Given the description of an element on the screen output the (x, y) to click on. 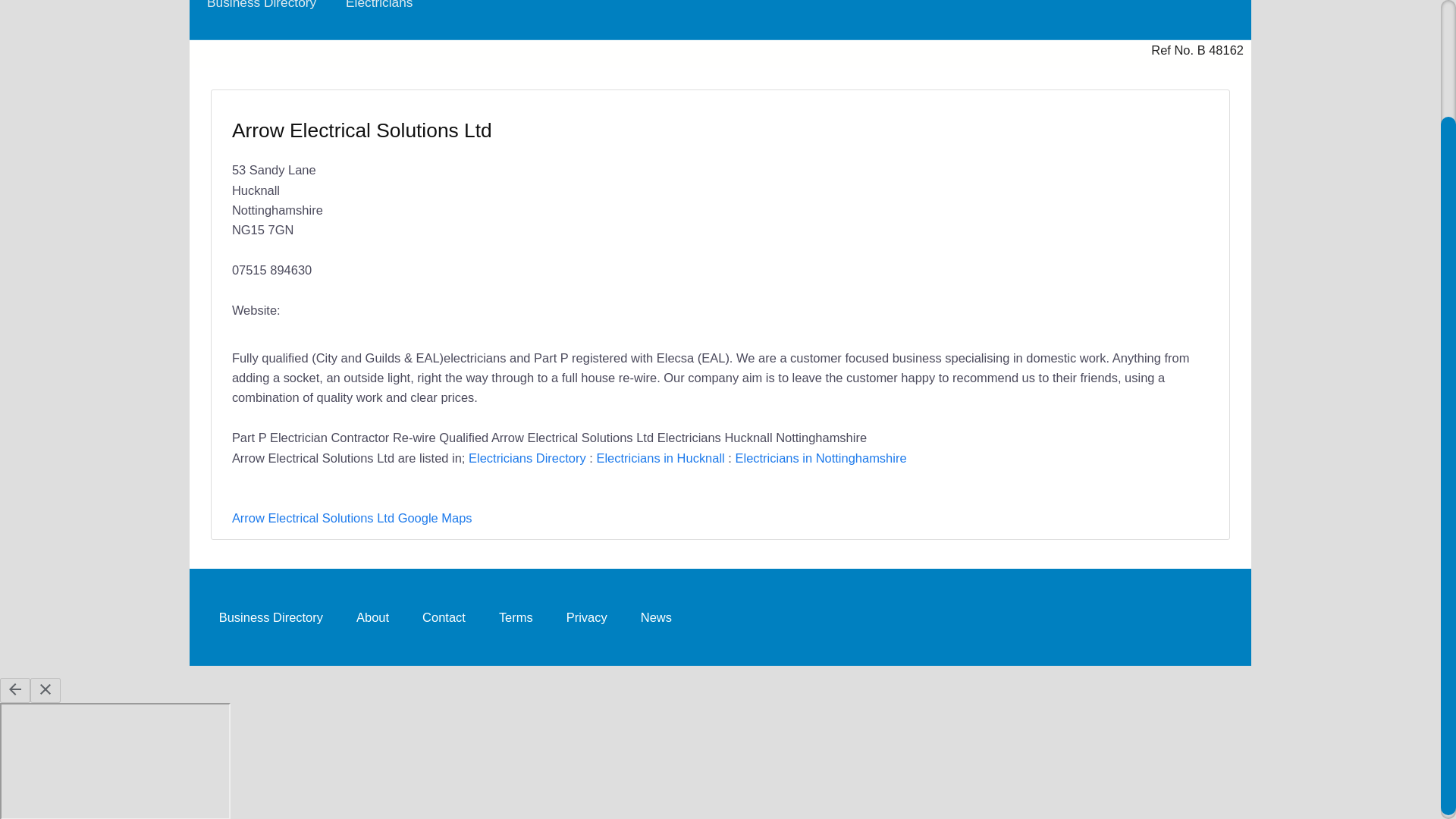
Electricians in Nottinghamshire (820, 458)
Advertisement (956, 207)
Electricians Directory (527, 458)
Electricians in Hucknall (659, 458)
Terms (515, 616)
Arrow Electrical Solutions Ltd Google Maps (351, 517)
News (656, 616)
Business Directory (261, 12)
Electricians (379, 12)
About (372, 616)
